Given the description of an element on the screen output the (x, y) to click on. 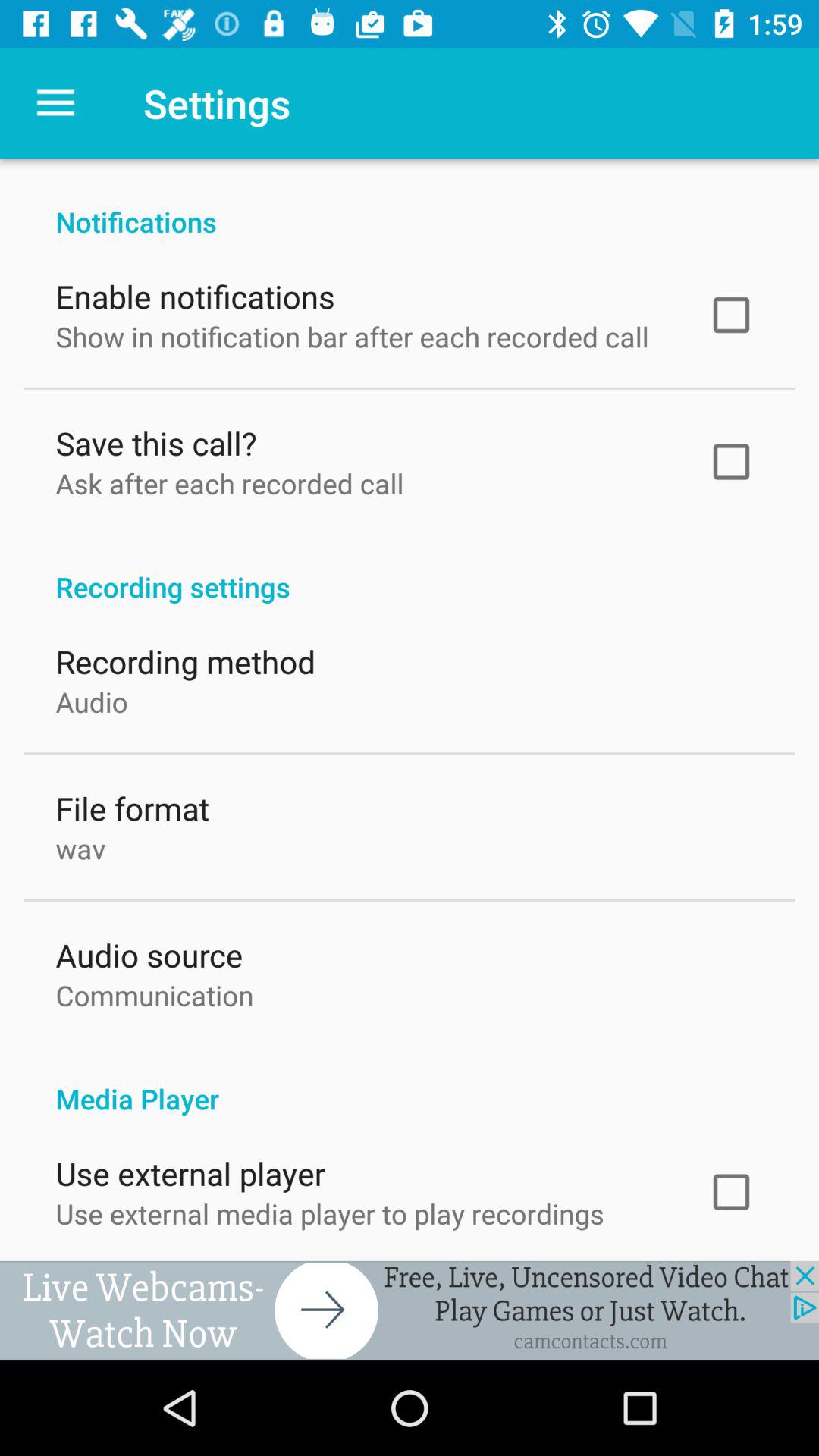
select the icon below the ask after each (409, 567)
